Given the description of an element on the screen output the (x, y) to click on. 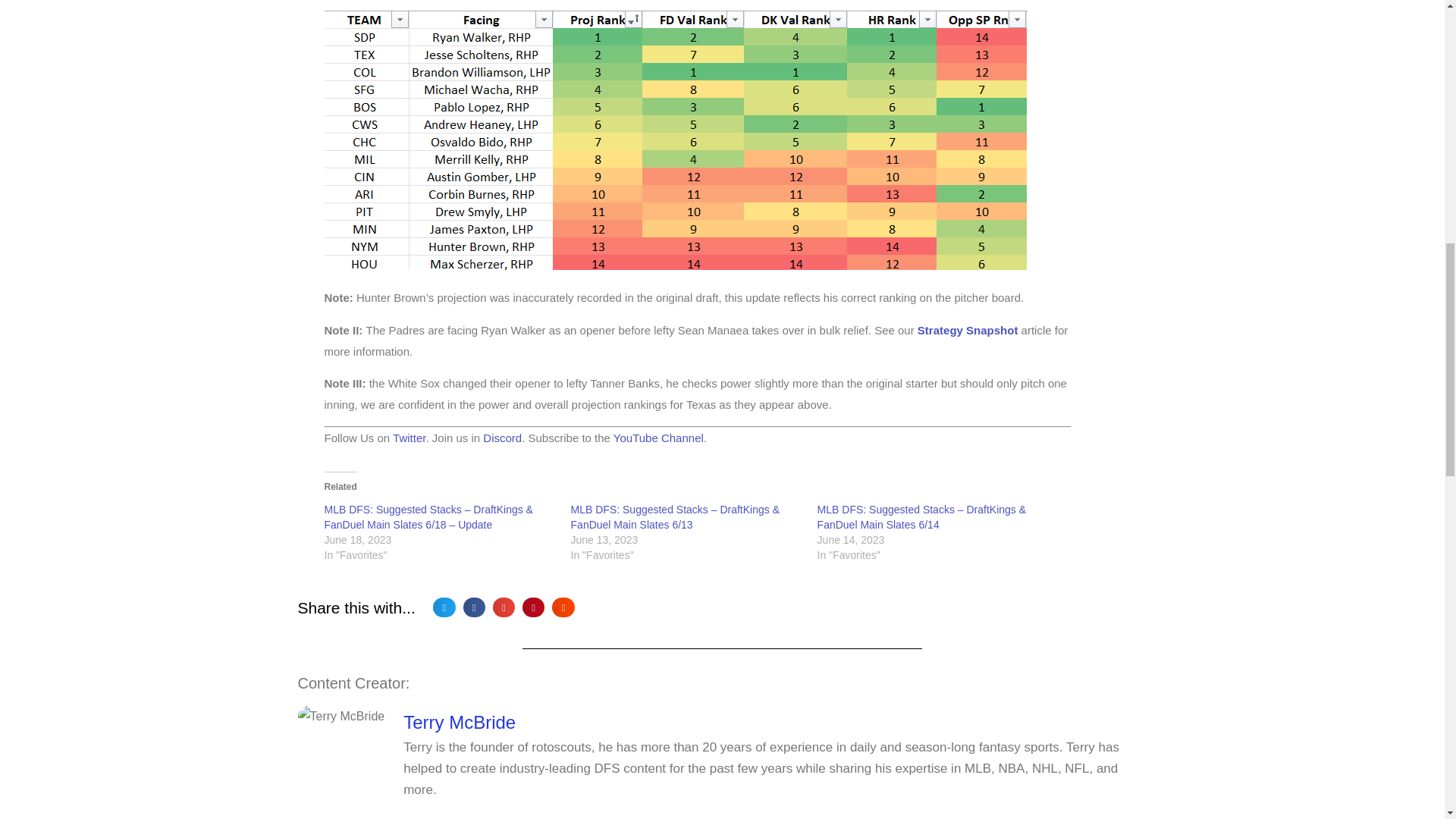
YouTube Channel (657, 437)
Discord (502, 437)
Twitter (409, 437)
Strategy Snapshot (967, 329)
